Given the description of an element on the screen output the (x, y) to click on. 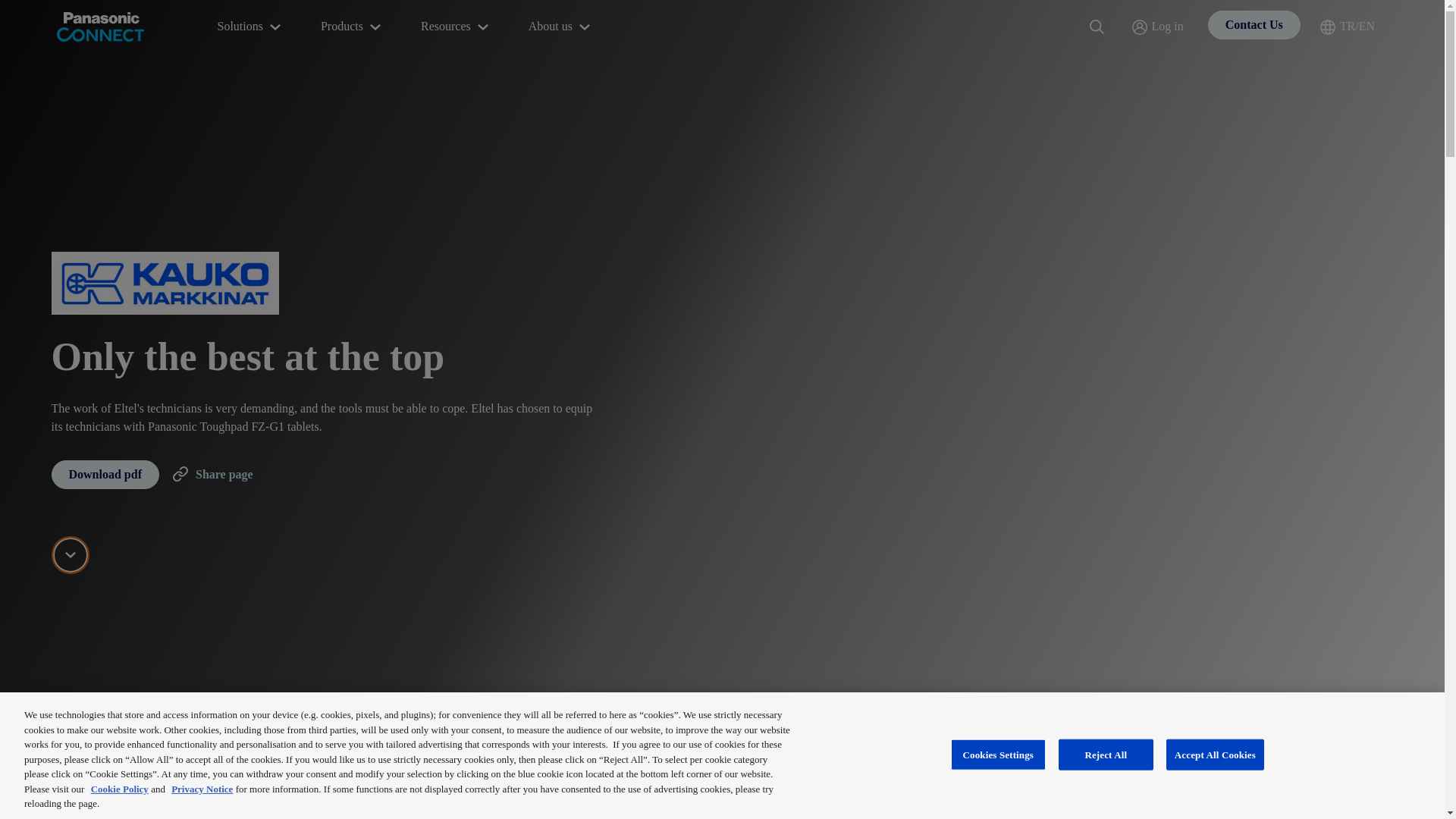
Products (352, 26)
About us (560, 26)
Solutions (250, 26)
Resources (455, 26)
